Given the description of an element on the screen output the (x, y) to click on. 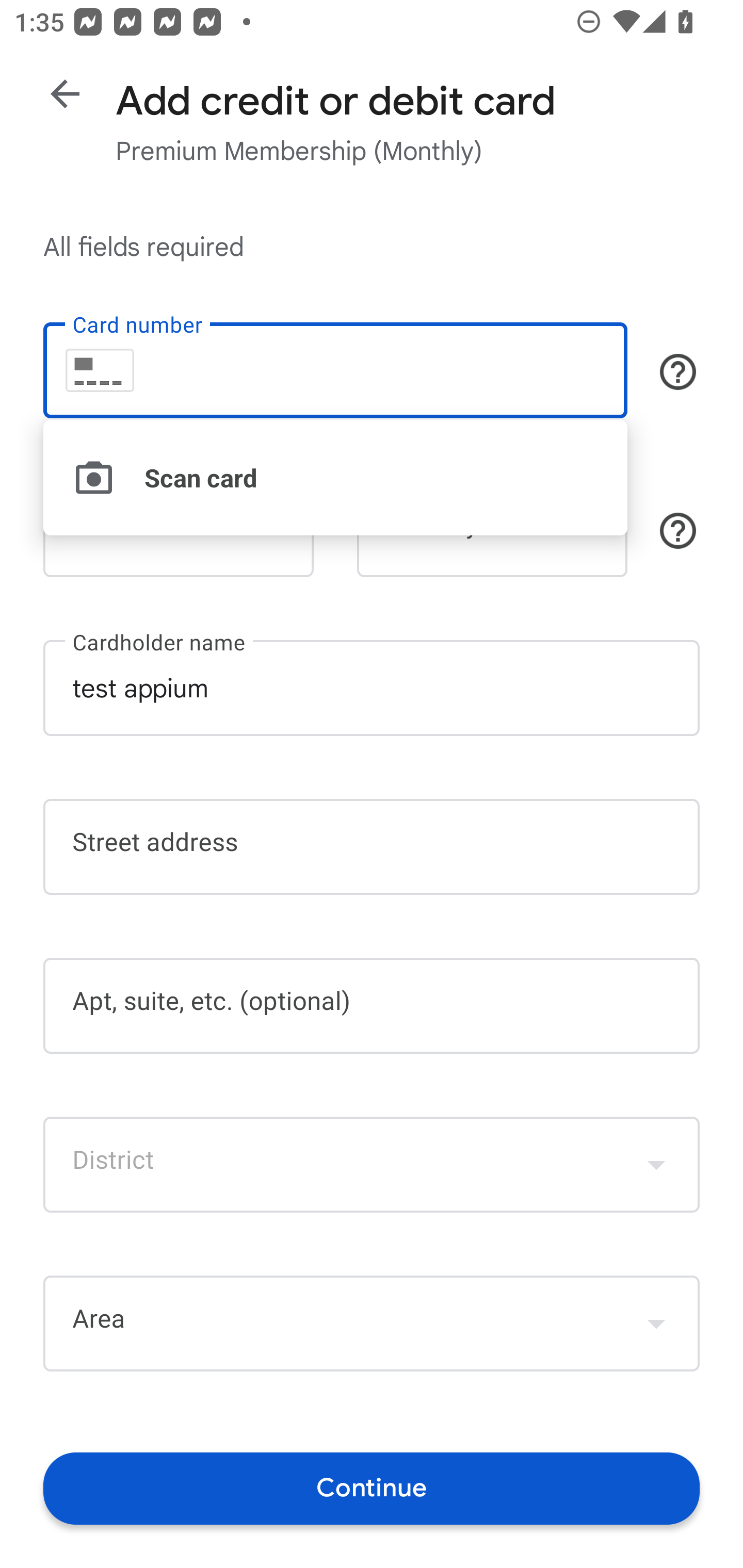
Back (64, 93)
Card number (335, 370)
Button, shows cards that are accepted for payment (677, 371)
Security code help (677, 530)
test appium (371, 687)
Street address (371, 847)
Apt, suite, etc. (optional) (371, 1005)
District (371, 1164)
Show dropdown menu (655, 1164)
Area (371, 1323)
Show dropdown menu (655, 1323)
Continue (371, 1487)
